Given the description of an element on the screen output the (x, y) to click on. 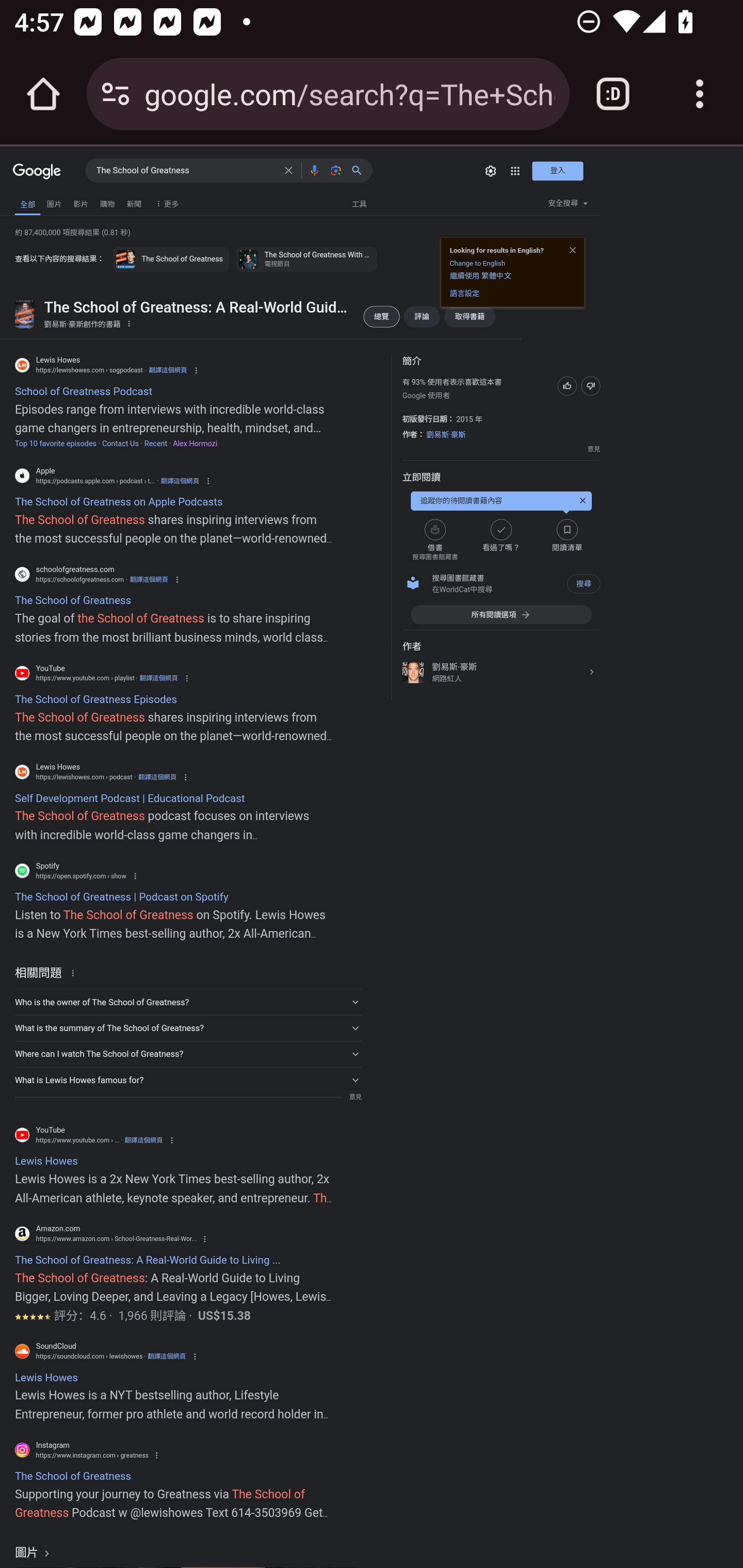
Open the home page (43, 93)
Connection is secure (115, 93)
Switch or close tabs (612, 93)
Customize and control Google Chrome (699, 93)
 清除 (288, 169)
語音搜尋 (314, 169)
以圖搜尋 (335, 169)
搜尋  (359, 169)
設定 (490, 170)
Google 應用程式 (514, 170)
登入 (557, 170)
Google (36, 172)
The School of Greatness (185, 170)
無障礙功能意見 (34, 199)
圖片 (53, 202)
影片 (80, 202)
購物 (107, 202)
新聞 (134, 202)
更多 (165, 202)
安全搜尋 (567, 205)
工具 (359, 203)
The School of Greatness (170, 259)
Change to English (477, 262)
繼續使用 繁體中文 繼續使用  繁體中文 (480, 274)
語言設定 (464, 292)
總覽 (380, 316)
評論 (420, 316)
取得書籍 (469, 316)
更多選項 (128, 323)
翻譯這個網頁 (167, 369)
喜歡 (566, 384)
不喜歡 (590, 384)
劉易斯·豪斯 (445, 434)
Top 10 favorite episodes (55, 443)
Contact Us (119, 443)
Recent (155, 443)
Alex Hormozi (194, 443)
意見 (593, 449)
翻譯這個網頁 (179, 480)
閂埋提示 (581, 500)
借書 搜尋圖書館藏書 借書 搜尋圖書館藏書 (434, 540)
看過了嗎？ (500, 540)
閱讀清單 (566, 540)
搜尋圖書館藏書 在WorldCat中搜尋 搜尋 搜尋圖書館藏書 在WorldCat中搜尋 搜尋 (500, 583)
翻譯這個網頁 (148, 578)
所有閱讀選項 所有閱讀選項 所有閱讀選項 (500, 614)
所有閱讀選項 (500, 614)
劉易斯·豪斯 網路紅人 劉易斯·豪斯 網路紅人 (500, 672)
翻譯這個網頁 (158, 677)
翻譯這個網頁 (156, 776)
關於此結果 (75, 971)
Who is the owner of The School of Greatness? (187, 1001)
What is the summary of The School of Greatness? (187, 1027)
Where can I watch The School of Greatness? (187, 1054)
What is Lewis Howes famous for? (187, 1079)
意見 (354, 1096)
翻譯這個網頁 (143, 1139)
翻譯這個網頁 (166, 1356)
圖片 (33, 1552)
